Given the description of an element on the screen output the (x, y) to click on. 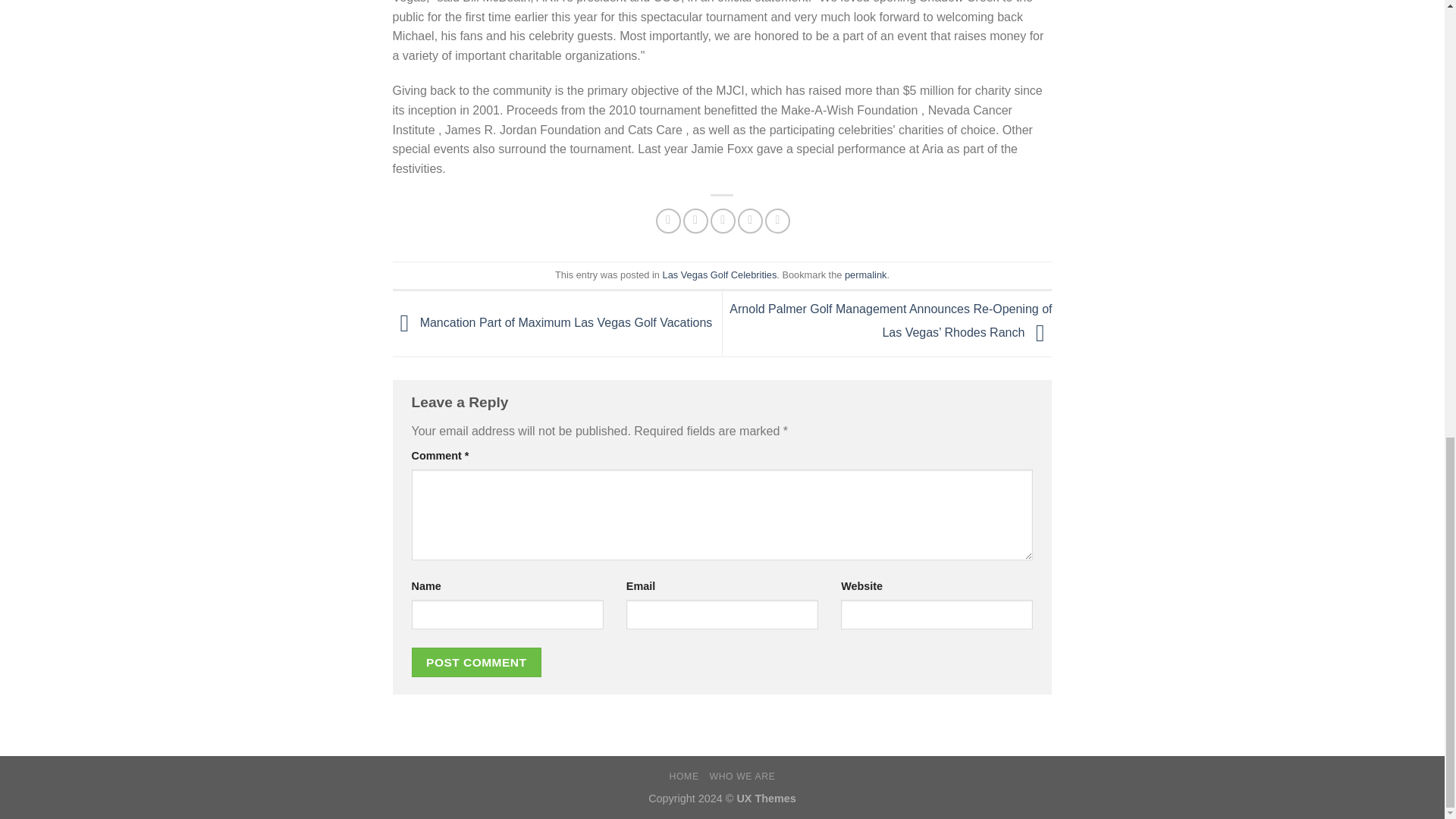
HOME (683, 776)
Mancation Part of Maximum Las Vegas Golf Vacations (553, 322)
Post Comment (475, 662)
permalink (865, 274)
Las Vegas Golf Celebrities (719, 274)
Post Comment (475, 662)
WHO WE ARE (741, 776)
